Given the description of an element on the screen output the (x, y) to click on. 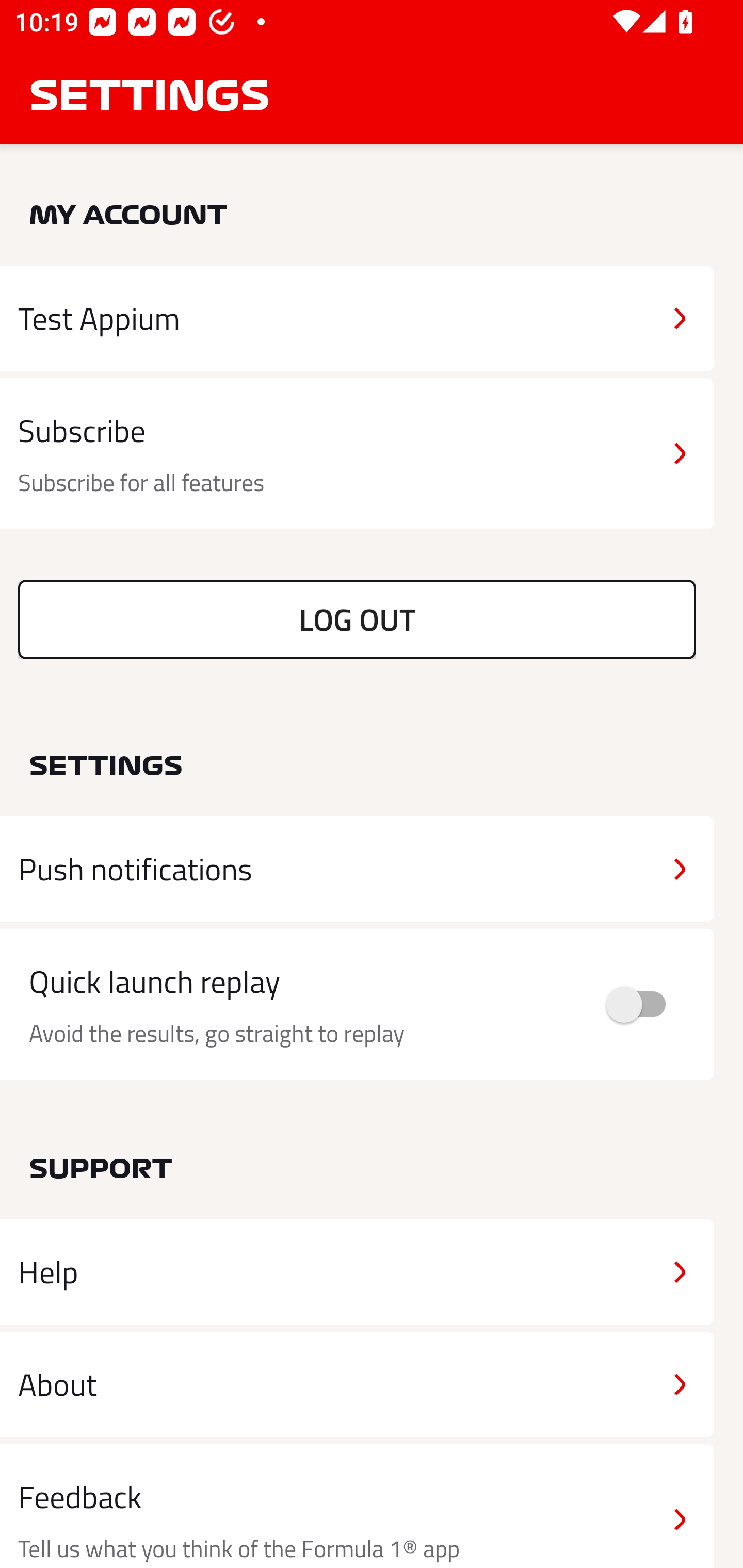
Test Appium (357, 317)
Subscribe Subscribe for all features (357, 453)
LOG OUT (356, 619)
Push notifications (357, 868)
Help (357, 1271)
About (357, 1383)
